Given the description of an element on the screen output the (x, y) to click on. 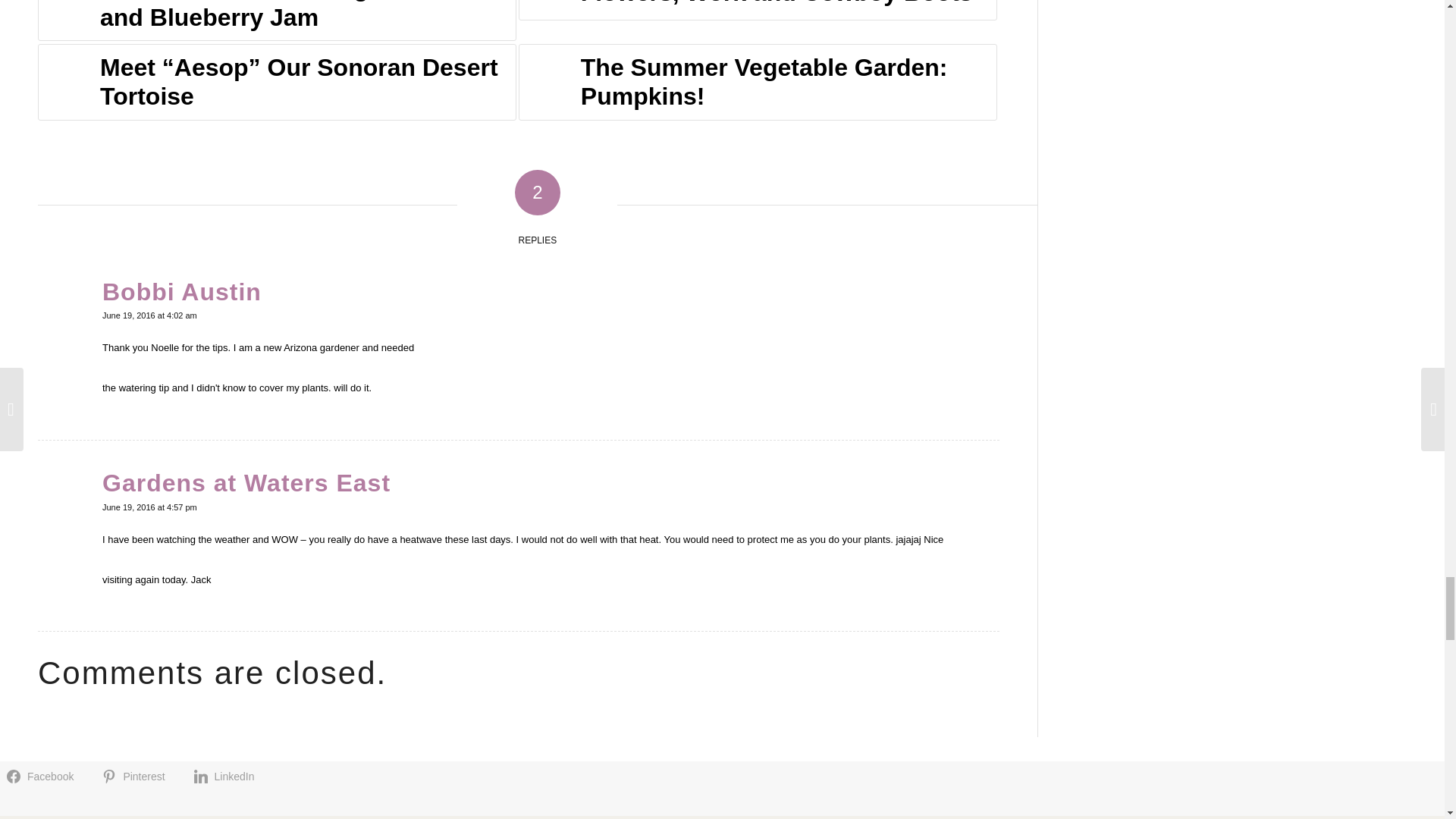
Can It Forward: Making Nectarine and Blueberry Jam (276, 20)
Can It Forward: Making Nectarine and Blueberry Jam (276, 20)
Flowers, Work and Cowboy Boots (757, 10)
The Summer Vegetable Garden: Pumpkins! (757, 82)
